Given the description of an element on the screen output the (x, y) to click on. 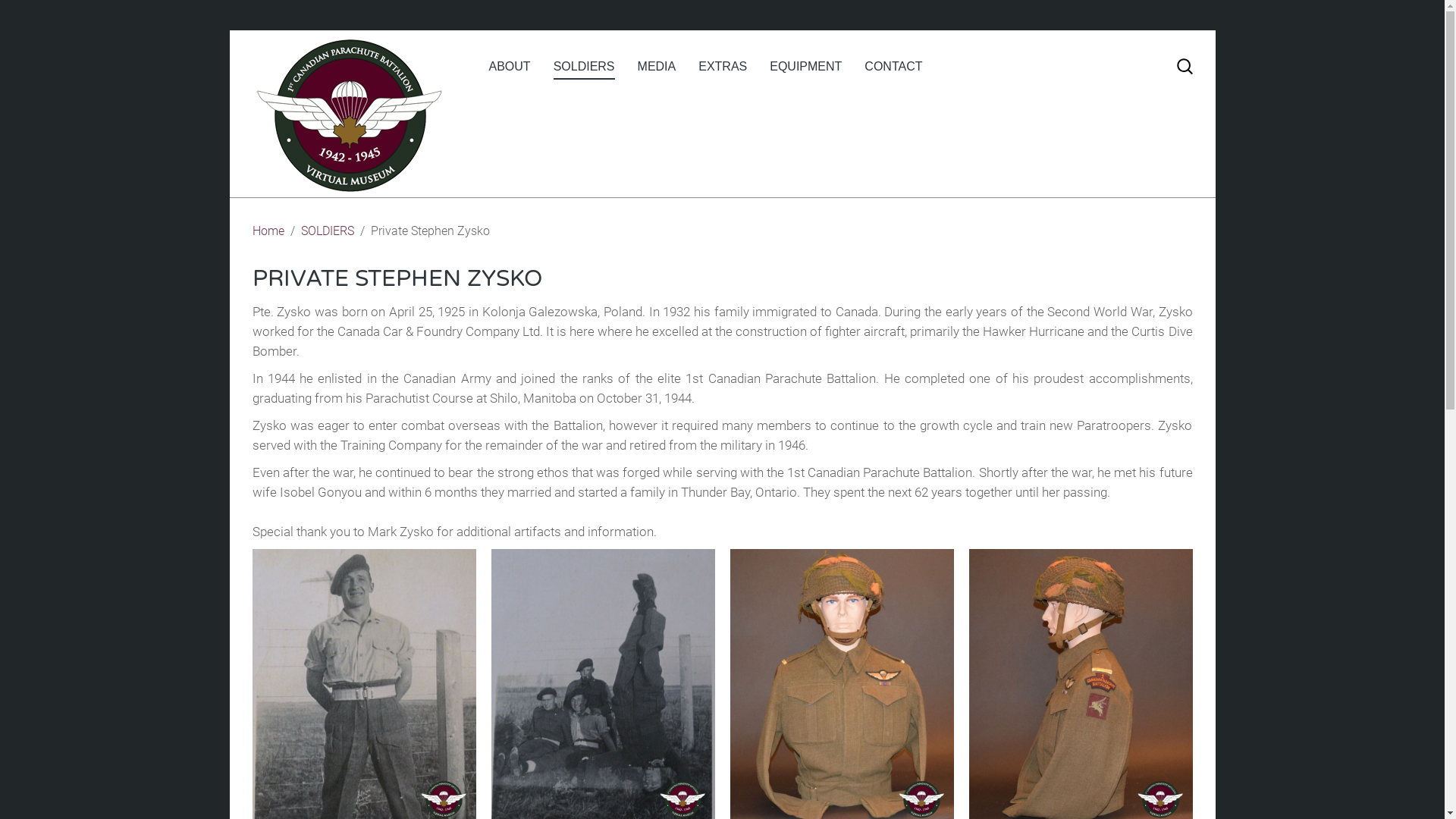
EQUIPMENT Element type: text (805, 66)
MEDIA Element type: text (656, 66)
ABOUT Element type: text (509, 66)
SOLDIERS Element type: text (584, 66)
SOLDIERS Element type: text (326, 231)
EXTRAS Element type: text (722, 66)
CONTACT Element type: text (893, 66)
Home Element type: text (267, 231)
